Given the description of an element on the screen output the (x, y) to click on. 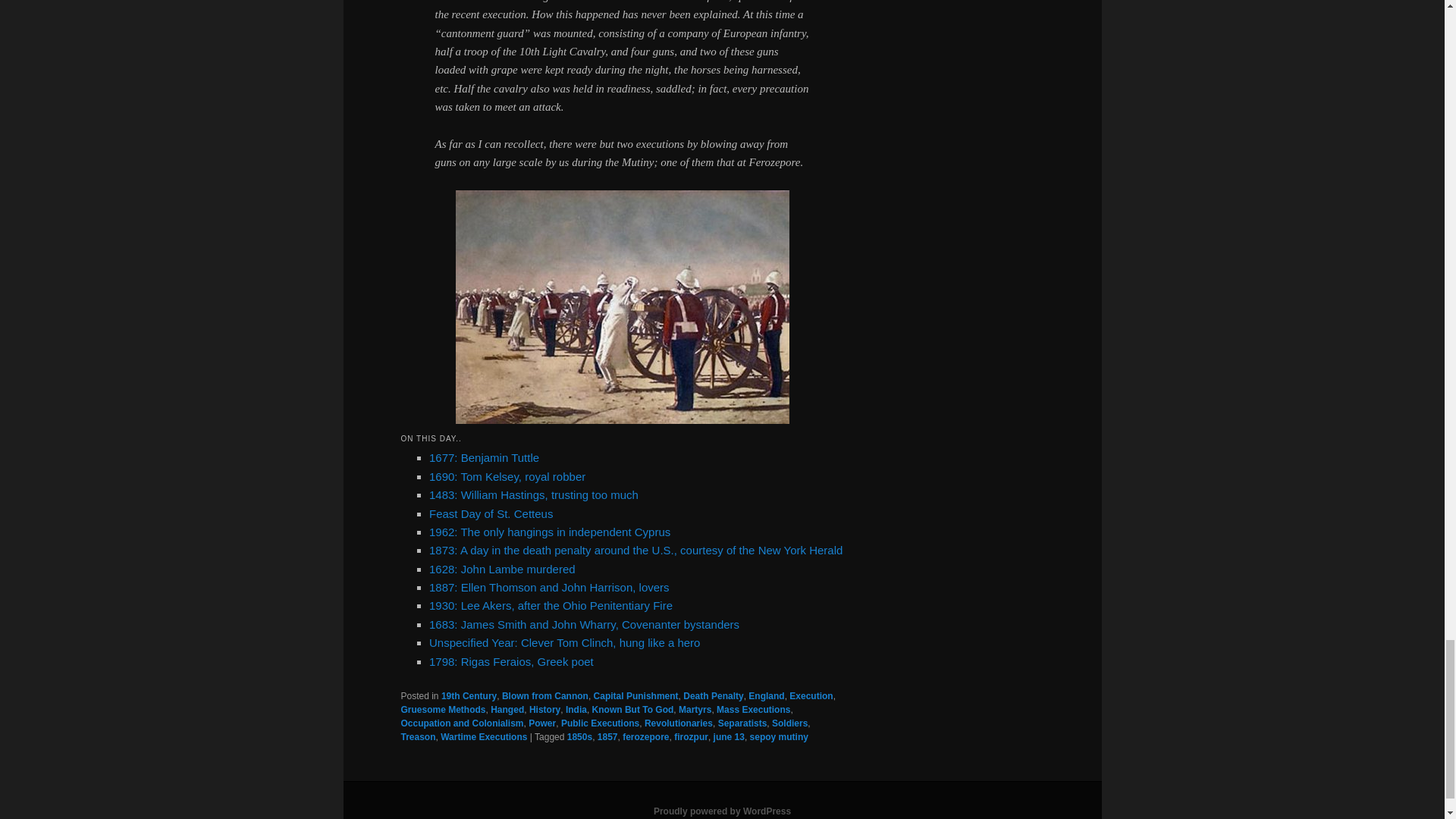
Semantic Personal Publishing Platform (721, 810)
England (766, 696)
1690: Tom Kelsey, royal robber (507, 476)
Execution (810, 696)
1930: Lee Akers, after the Ohio Penitentiary Fire (550, 604)
Blown from Cannon (545, 696)
1798: Rigas Feraios, Greek poet (511, 661)
1483: William Hastings, trusting too much (534, 494)
1962: The only hangings in independent Cyprus (549, 531)
19th Century (468, 696)
1683: James Smith and John Wharry, Covenanter bystanders (584, 624)
Gruesome Methods (442, 709)
Feast Day of St. Cetteus (491, 513)
Blowing from Guns in British India, by Vasily Vereshchagin (621, 419)
1887: Ellen Thomson and John Harrison, lovers (549, 586)
